Given the description of an element on the screen output the (x, y) to click on. 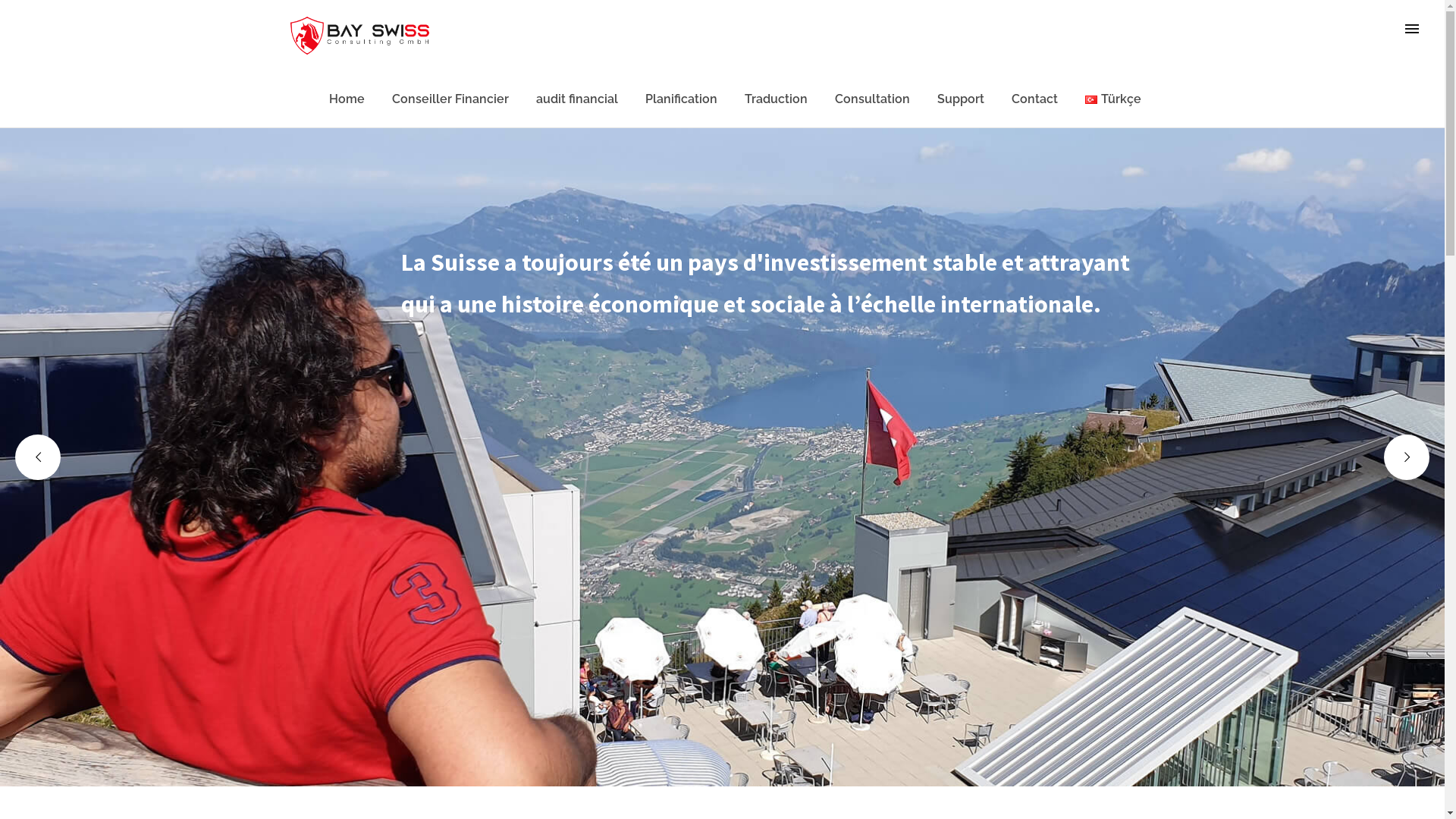
Conseiller Financier Element type: text (450, 98)
Home Element type: text (346, 98)
Consultation Element type: text (872, 98)
Support Element type: text (960, 98)
audit financial Element type: text (576, 98)
Planification Element type: text (681, 98)
Contact Element type: text (1034, 98)
Traduction Element type: text (776, 98)
